Given the description of an element on the screen output the (x, y) to click on. 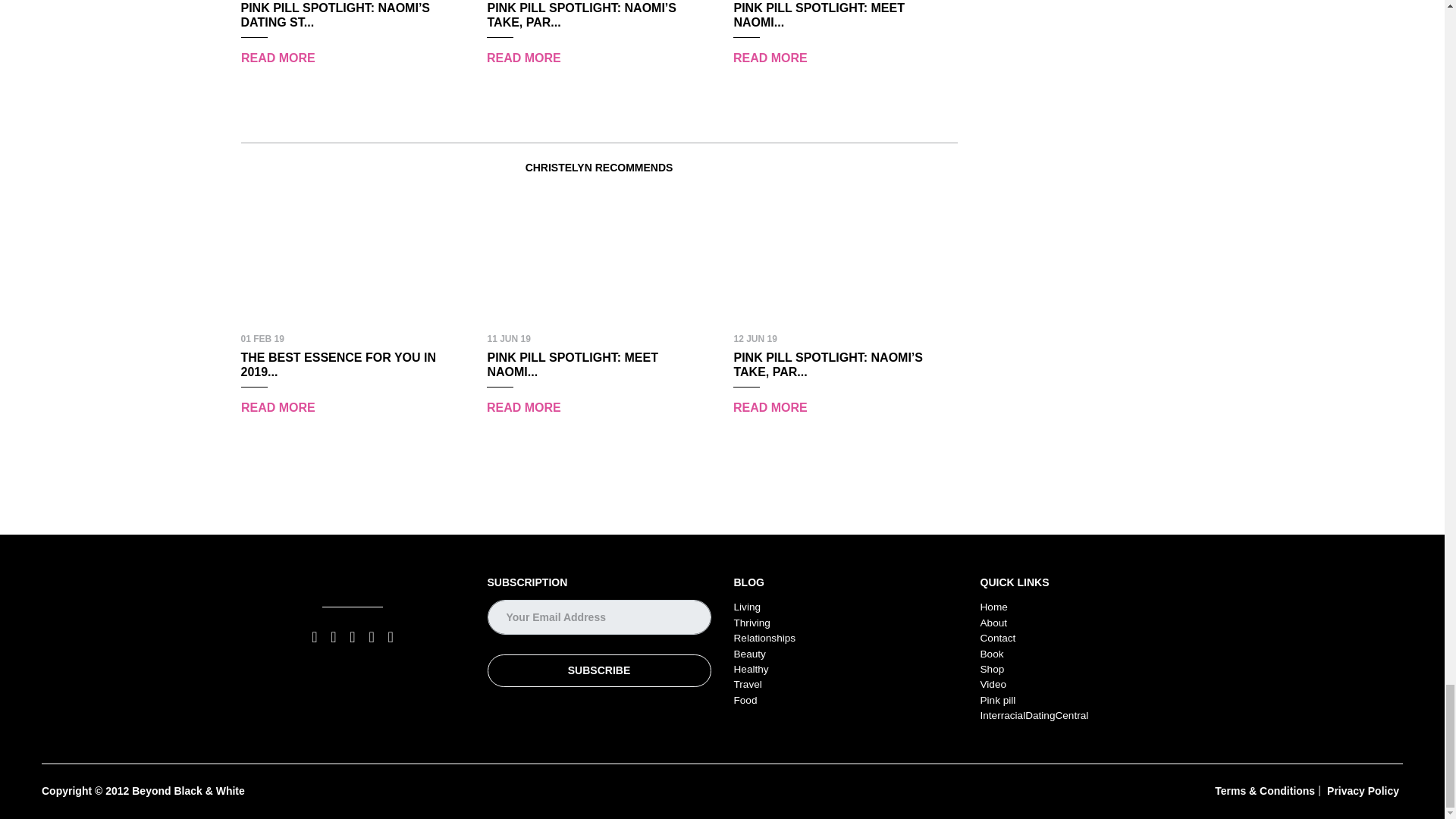
Subscribe (598, 670)
